Given the description of an element on the screen output the (x, y) to click on. 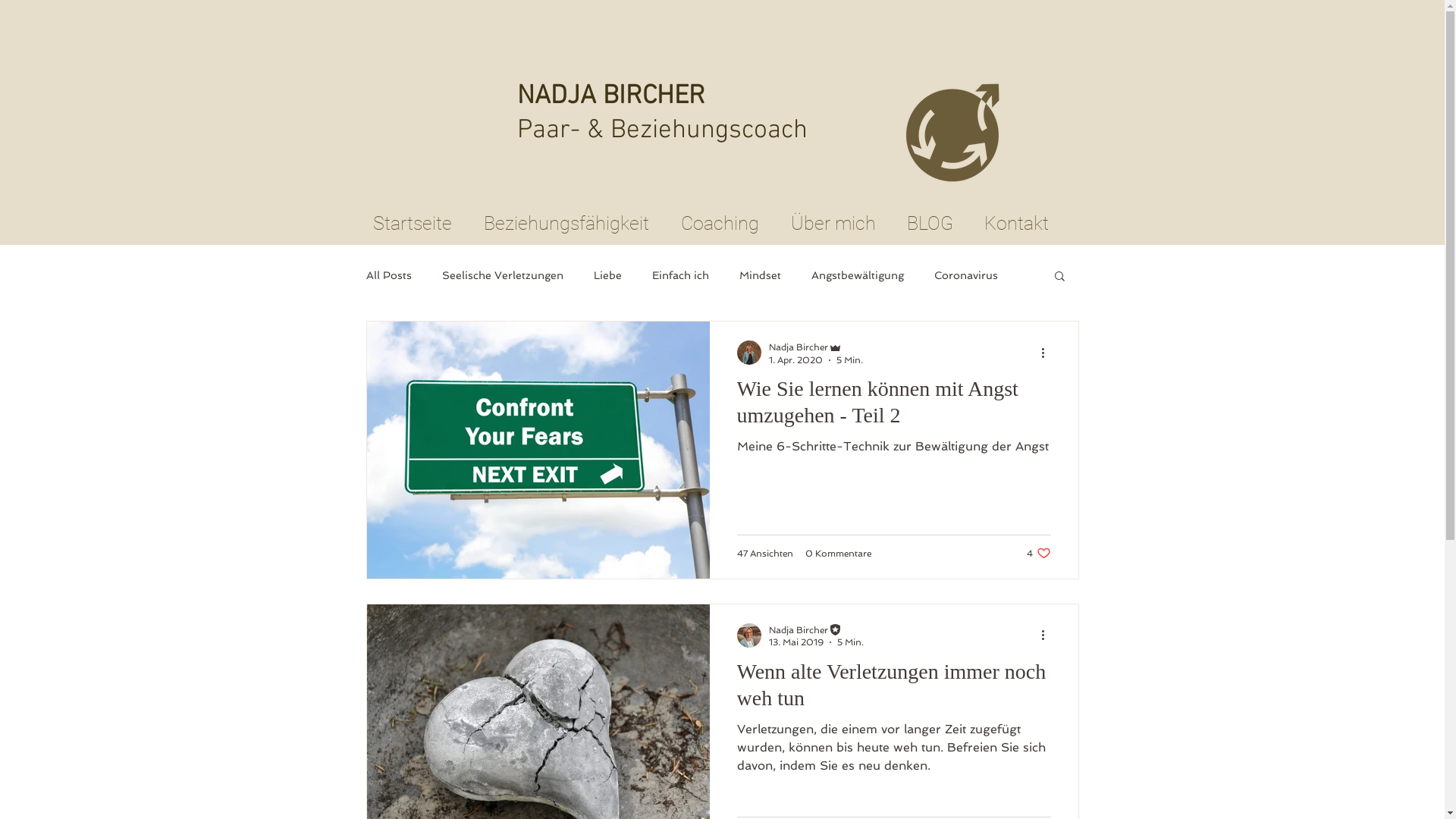
Nadja Bircher Element type: text (815, 346)
Wenn alte Verletzungen immer noch weh tun Element type: text (894, 687)
Coaching Element type: text (719, 222)
All Posts Element type: text (388, 275)
Coronavirus Element type: text (965, 275)
Einfach ich Element type: text (680, 275)
Seelische Verletzungen Element type: text (501, 275)
BLOG Element type: text (930, 222)
Startseite Element type: text (411, 222)
Mindset Element type: text (759, 275)
Kontakt Element type: text (1016, 222)
Nadja Bircher Element type: text (815, 629)
0 Kommentare Element type: text (838, 552)
Liebe Element type: text (607, 275)
